Given the description of an element on the screen output the (x, y) to click on. 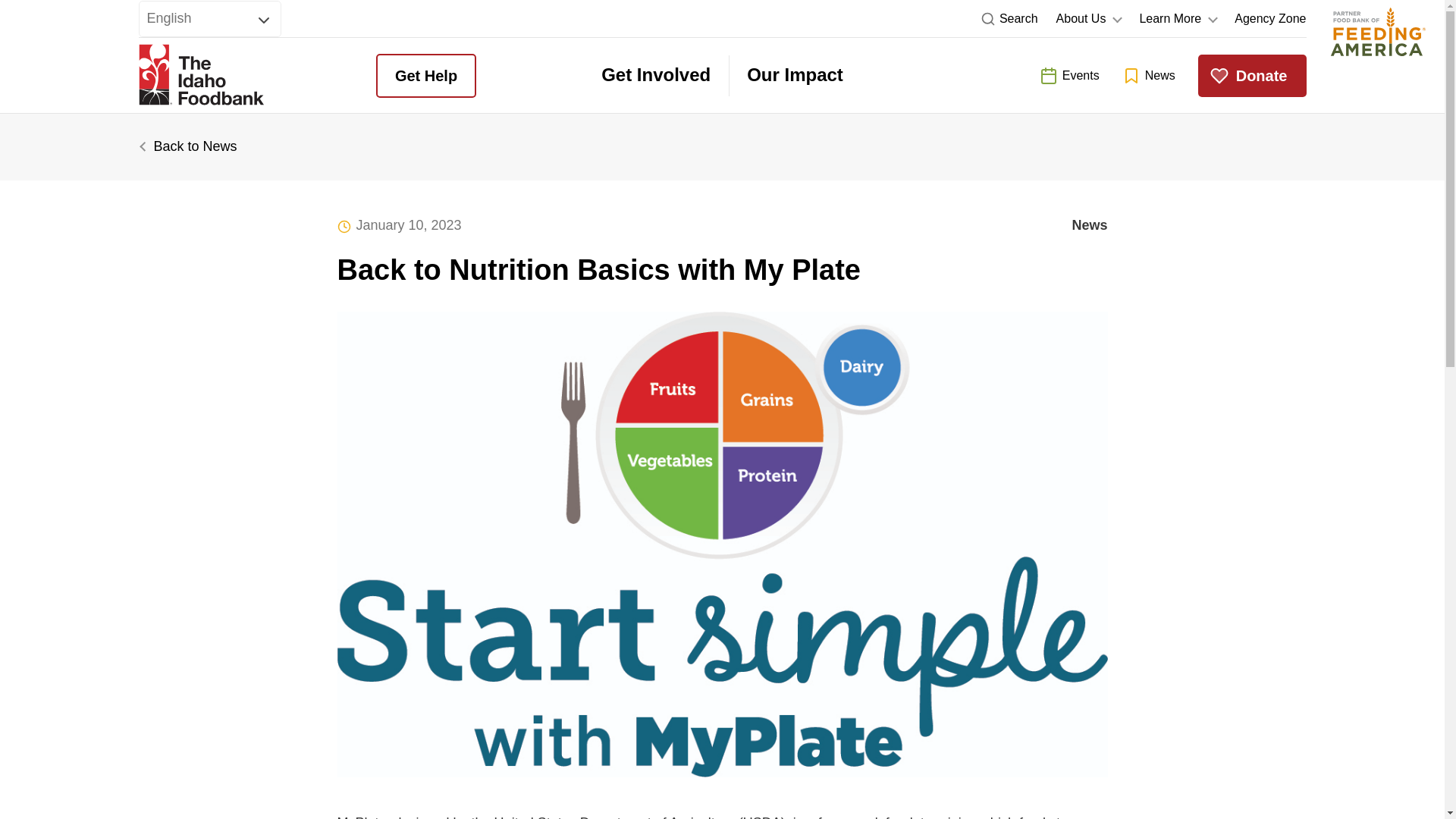
Get Involved (655, 75)
Go to Home page (200, 75)
About Us (1089, 18)
Learn More (1176, 18)
Get Help (425, 75)
Search (1008, 18)
Our Impact (794, 75)
Agency Zone (1270, 18)
